Given the description of an element on the screen output the (x, y) to click on. 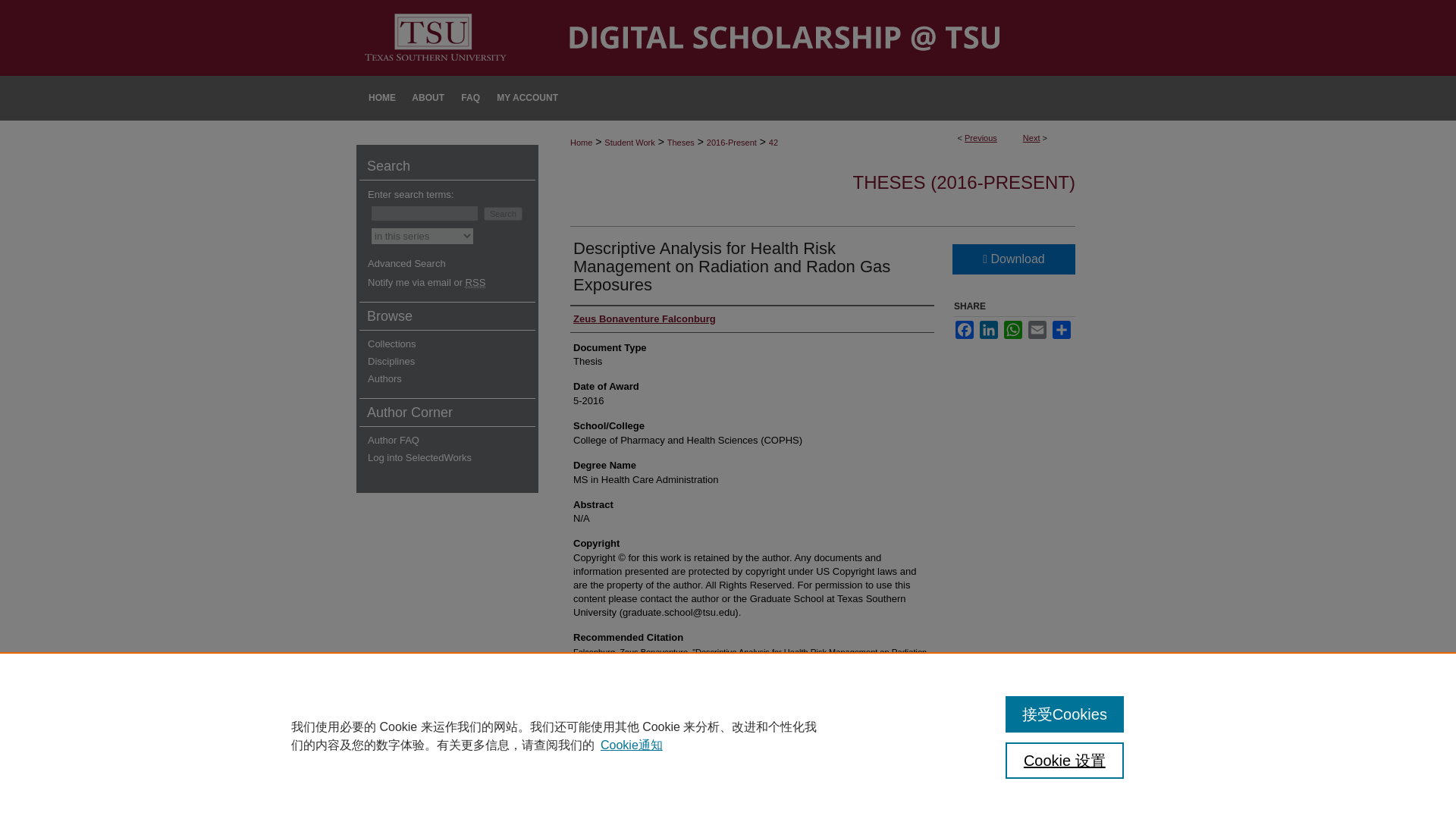
Authors (453, 378)
Advanced Search (406, 263)
ABOUT (427, 98)
LinkedIn (988, 330)
Author FAQ (453, 439)
Collections (453, 343)
Browse by Author (453, 378)
Disciplines (453, 360)
WhatsApp (1013, 330)
Search (502, 213)
Home (380, 98)
Search (502, 213)
Student Work (628, 142)
My Account (526, 98)
Really Simple Syndication (475, 282)
